Given the description of an element on the screen output the (x, y) to click on. 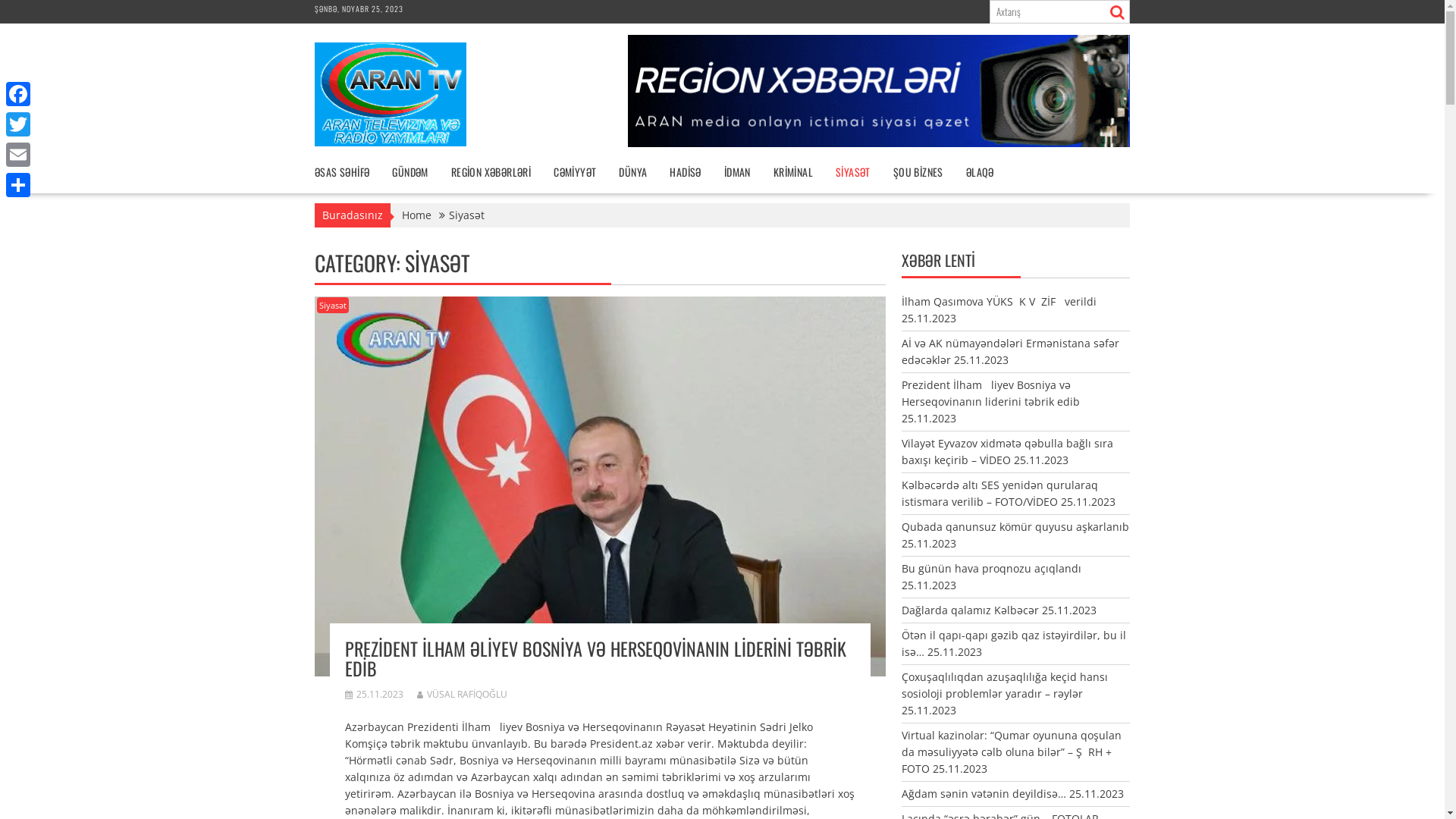
25.11.2023 Element type: text (374, 693)
Twitter Element type: text (18, 124)
KRIMINAL Element type: text (793, 171)
Home Element type: text (416, 215)
Facebook Element type: text (18, 93)
Email Element type: text (18, 154)
Share Element type: text (18, 184)
